Given the description of an element on the screen output the (x, y) to click on. 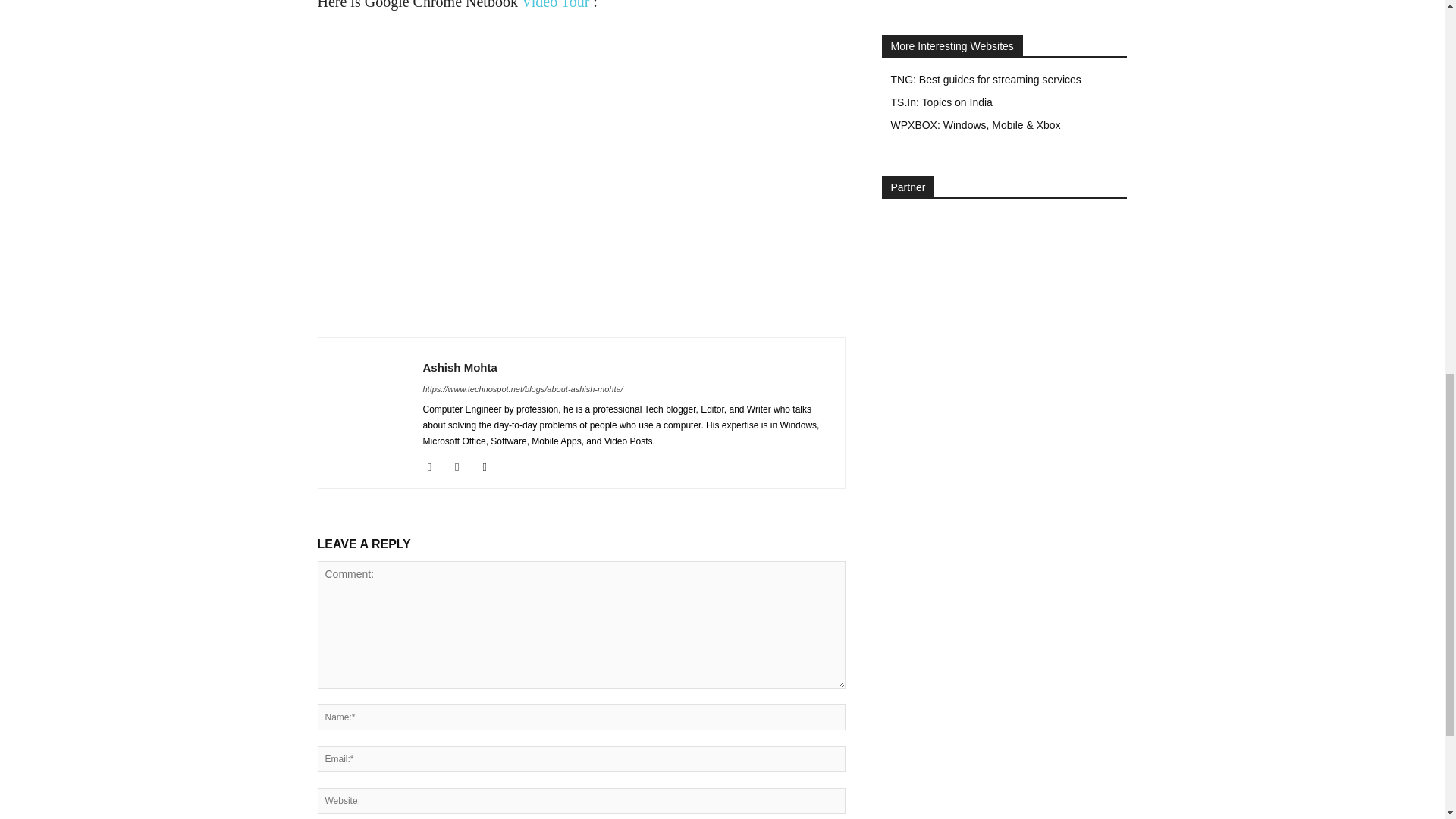
Linkedin (462, 466)
Video Tour (555, 4)
Twitter (489, 466)
Facebook (435, 466)
Ashish Mohta (460, 367)
